Given the description of an element on the screen output the (x, y) to click on. 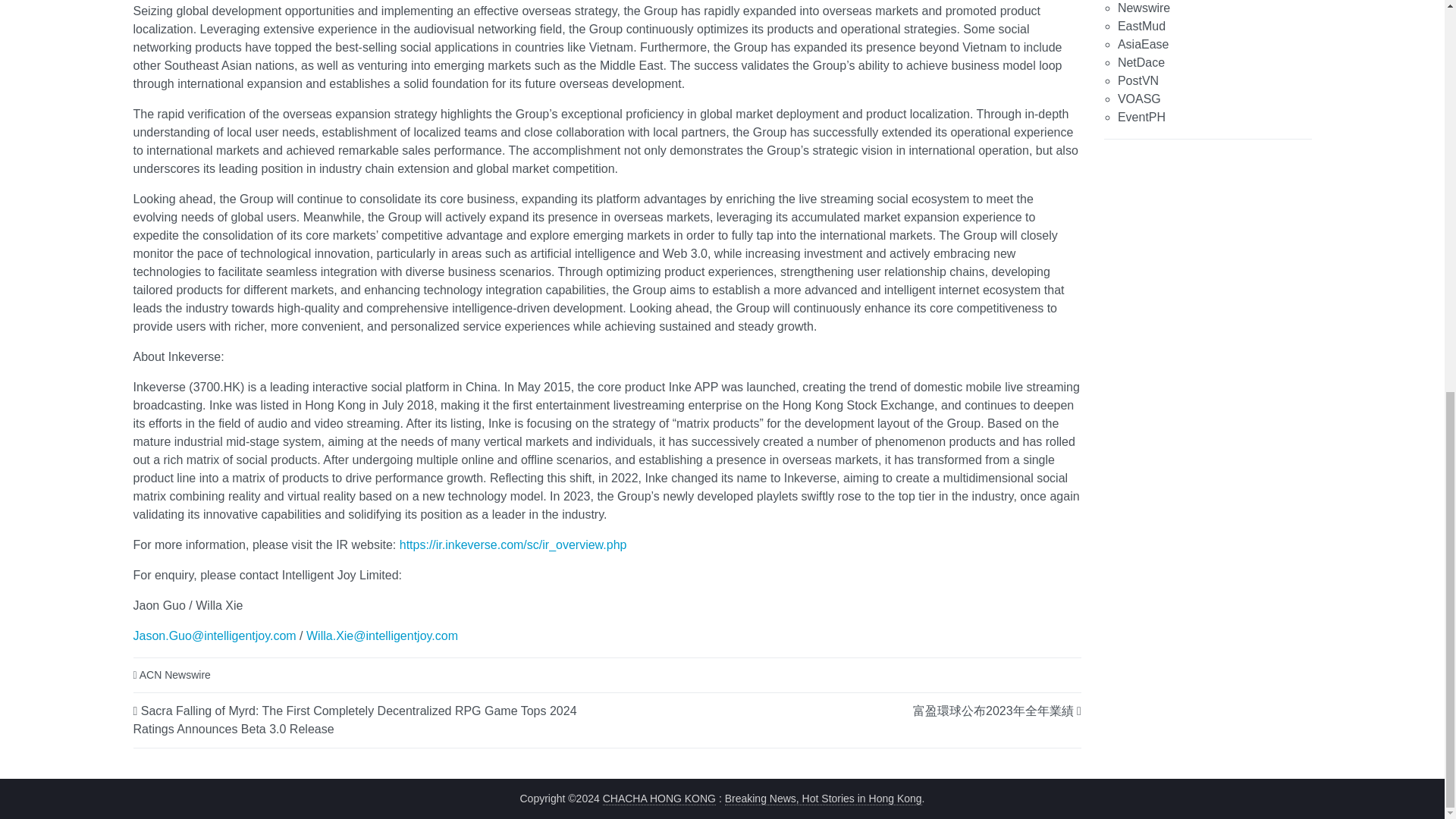
Newswire (1144, 7)
ACN Newswire (175, 674)
EastMud (1142, 25)
AsiaEase (1143, 43)
